Given the description of an element on the screen output the (x, y) to click on. 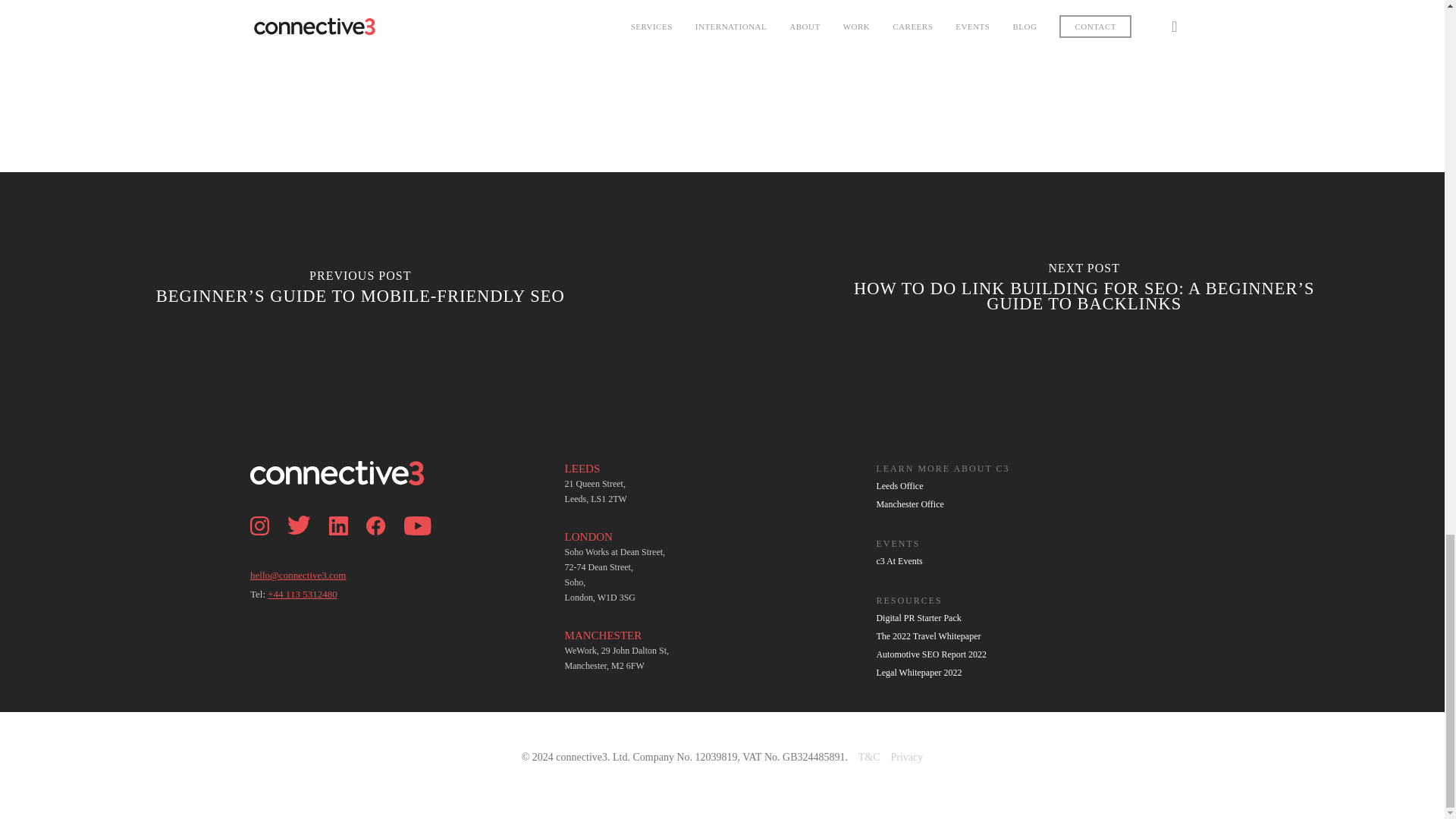
Share this (435, 24)
Facebook (383, 558)
LinkedIn (346, 558)
Share this (500, 24)
Email us (298, 574)
Instagram (266, 558)
Privacy (906, 756)
Twitter (306, 558)
Call us (301, 593)
YouTube (425, 558)
